Given the description of an element on the screen output the (x, y) to click on. 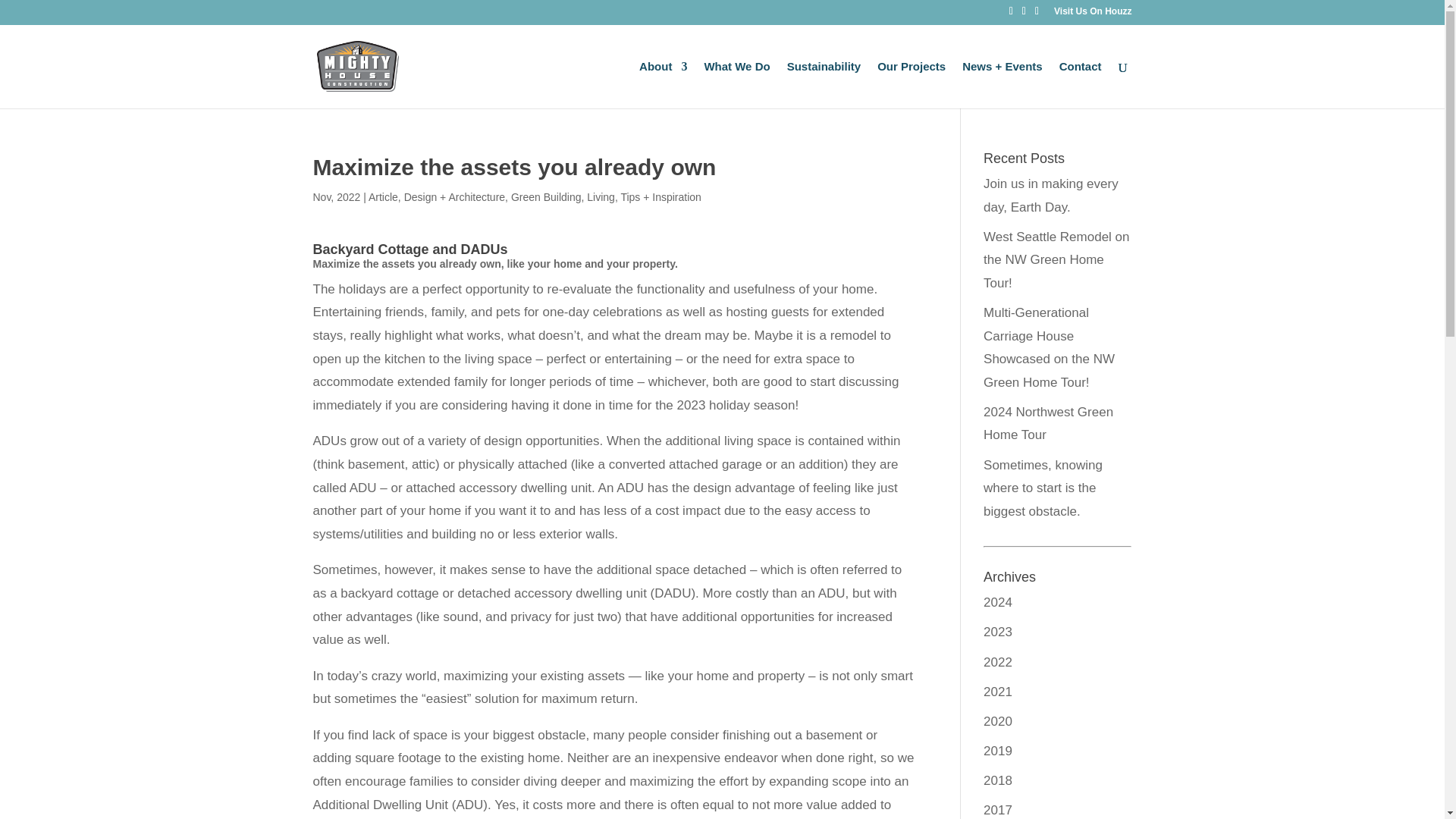
Sustainability (824, 83)
About (663, 83)
Article (382, 196)
2024 (997, 602)
Join us in making every day, Earth Day. (1051, 195)
2024 Northwest Green Home Tour (1048, 423)
Sometimes, knowing where to start is the biggest obstacle. (1043, 487)
Visit Us On Houzz (1092, 14)
Living (600, 196)
What We Do (736, 83)
Green Building (545, 196)
Contact (1080, 83)
2023 (997, 631)
Our Projects (910, 83)
